Given the description of an element on the screen output the (x, y) to click on. 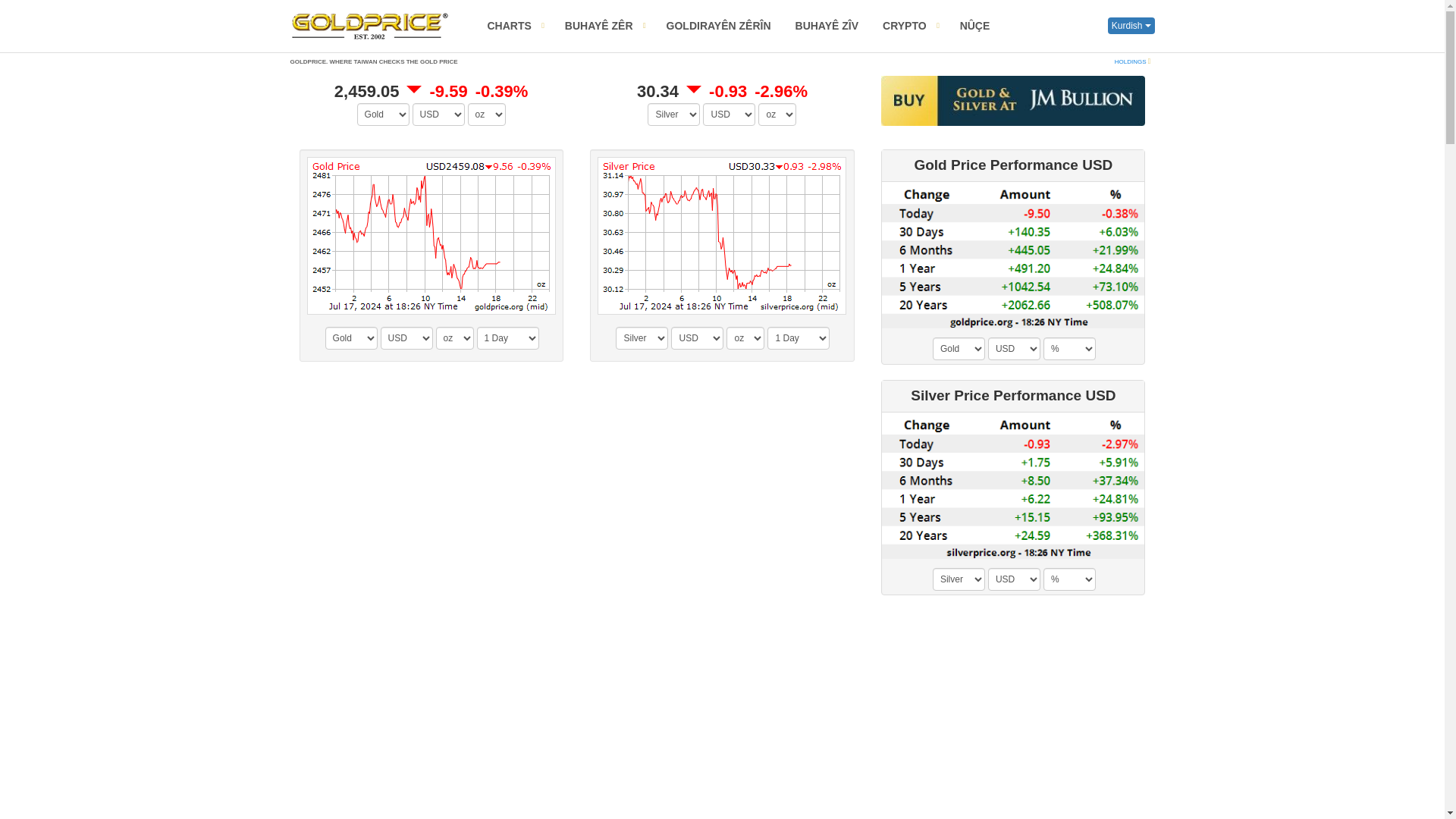
CHARTS (515, 26)
